Given the description of an element on the screen output the (x, y) to click on. 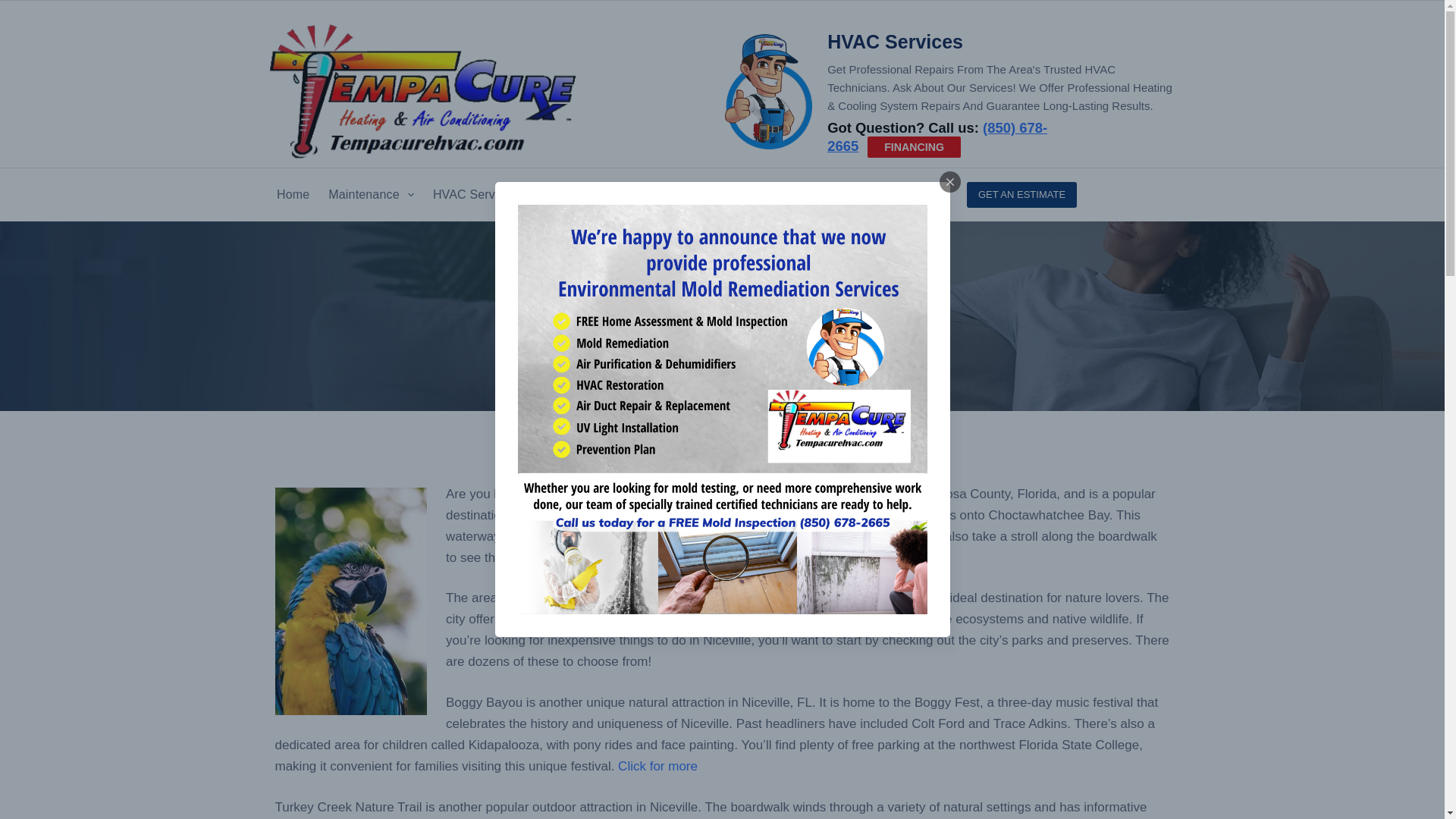
Niceville FL Natural Attractions (722, 315)
Skip to content (15, 7)
